Given the description of an element on the screen output the (x, y) to click on. 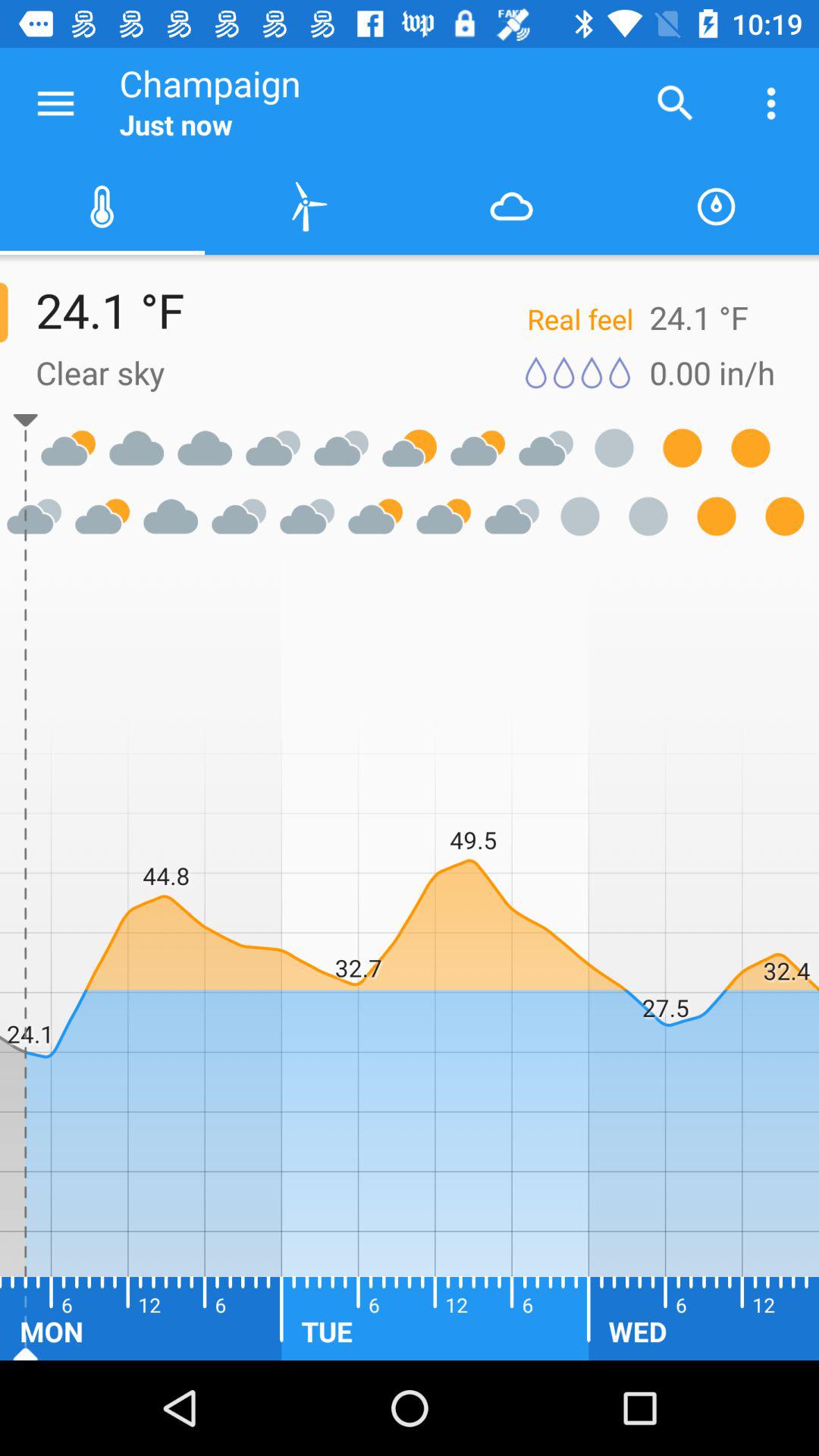
press icon to the left of the champaign item (55, 103)
